Given the description of an element on the screen output the (x, y) to click on. 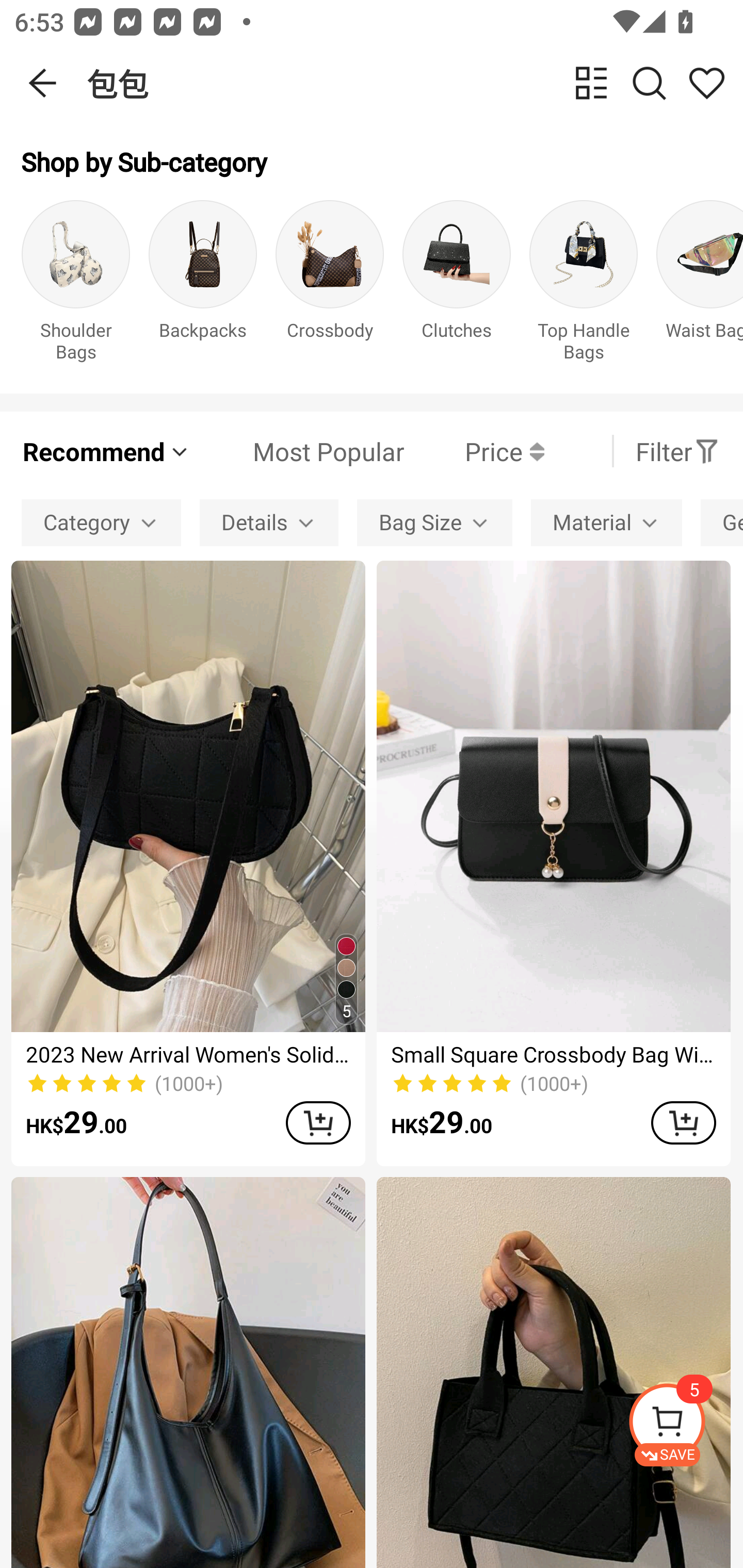
包包 change view Search Share (414, 82)
change view (591, 82)
Search (648, 82)
Share (706, 82)
Shoulder Bags (75, 285)
Backpacks (202, 285)
Crossbody (329, 285)
Clutches (456, 285)
Top Handle Bags (583, 285)
Waist Bags (699, 285)
Recommend (106, 450)
Most Popular (297, 450)
Price (474, 450)
Filter (677, 450)
Category (101, 521)
Details (268, 521)
Bag Size (434, 521)
Material (606, 521)
ADD TO CART (318, 1122)
ADD TO CART (683, 1122)
SAVE (685, 1424)
